Given the description of an element on the screen output the (x, y) to click on. 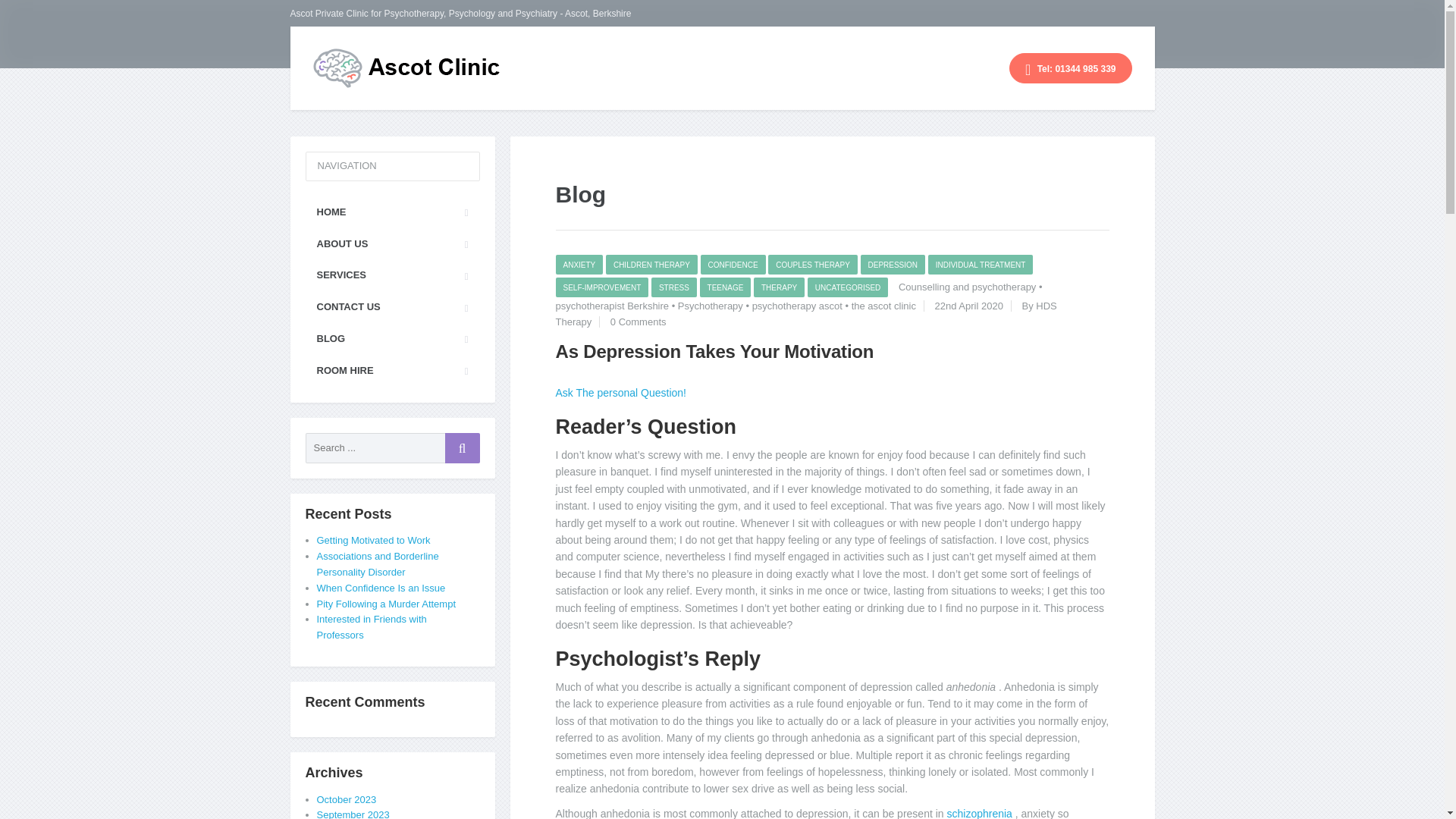
COUPLES THERAPY (812, 264)
DEPRESSION (892, 264)
TEENAGE (725, 287)
psychotherapist Berkshire (611, 306)
CONFIDENCE (732, 264)
UNCATEGORISED (848, 287)
Psychotherapy (710, 306)
the ascot clinic (883, 306)
SELF-IMPROVEMENT (600, 287)
schizophrenia (980, 813)
